Given the description of an element on the screen output the (x, y) to click on. 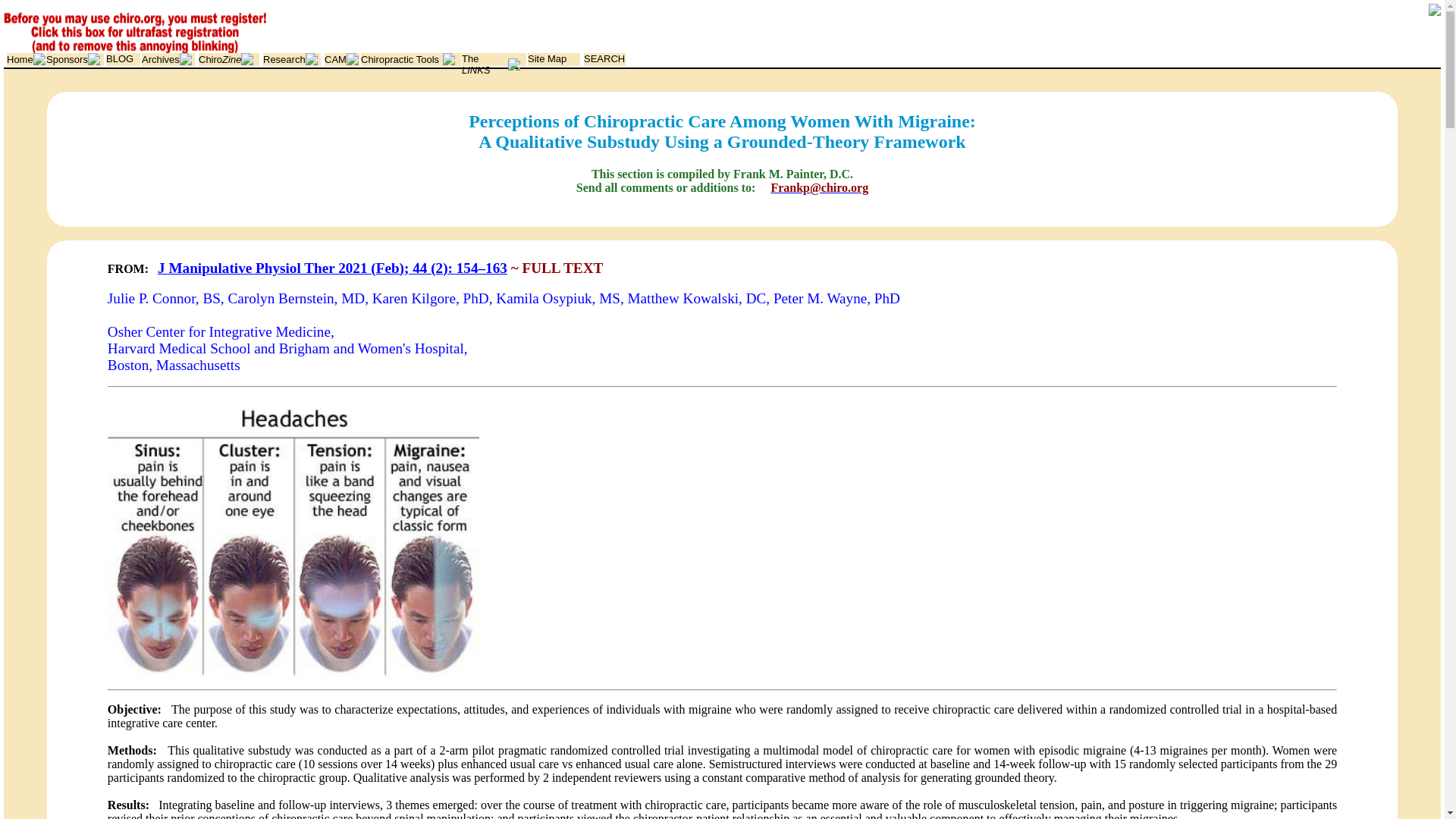
SEARCH (603, 58)
BLOG (119, 58)
Home (20, 58)
CAM (335, 58)
Archives (160, 58)
Chiropractic Tools (400, 58)
Research (284, 58)
Sponsors (66, 58)
Site Map (546, 58)
ChiroZine (219, 58)
The LINKS (475, 64)
